Given the description of an element on the screen output the (x, y) to click on. 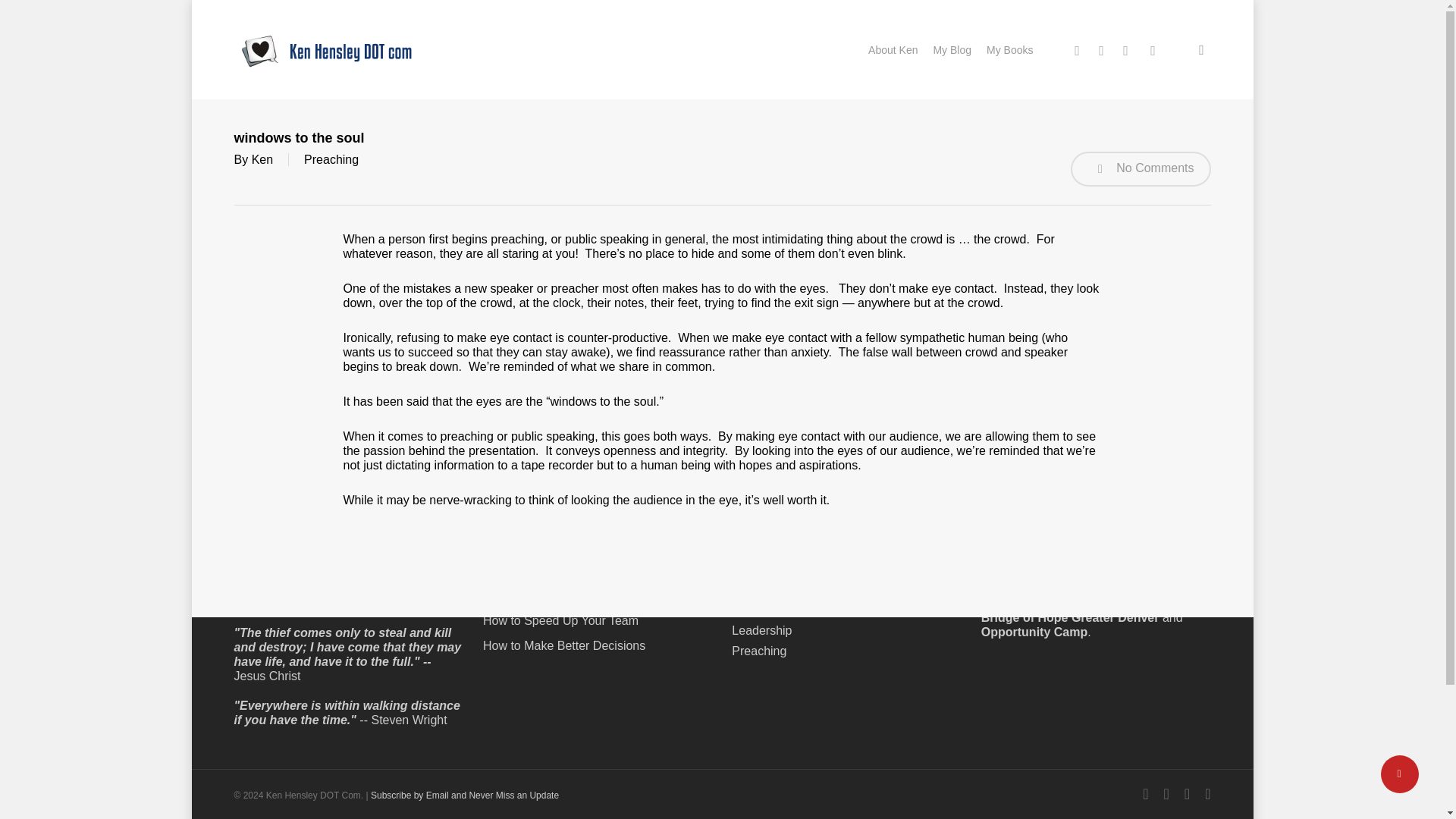
How to Speed Up Your Team (598, 620)
search (1200, 49)
Posts by Ken (262, 159)
Networking or Relationship Building (598, 595)
Church Planting (775, 568)
My Books (1009, 49)
linkedin (1125, 48)
Preaching (331, 159)
twitter (1076, 48)
My Blog (951, 49)
General (753, 609)
About Ken (892, 49)
One Million Safe Miles (598, 570)
Leadership (762, 630)
No Comments (1140, 168)
